Given the description of an element on the screen output the (x, y) to click on. 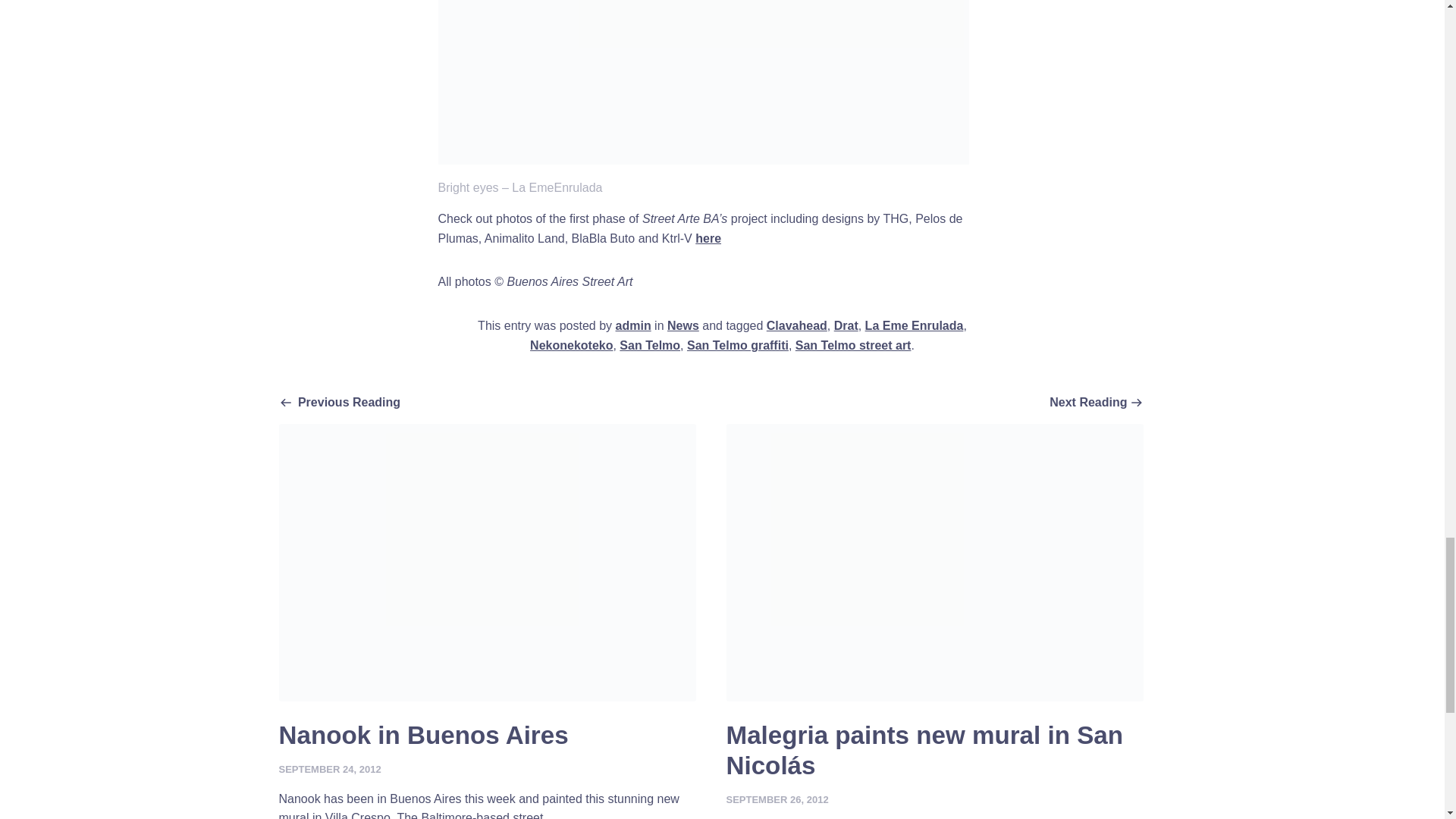
San Telmo street art (852, 345)
View all posts by admin (632, 325)
News (682, 325)
here (707, 237)
La Eme Enrulada (570, 345)
admin (913, 325)
Clavahead (632, 325)
